Given the description of an element on the screen output the (x, y) to click on. 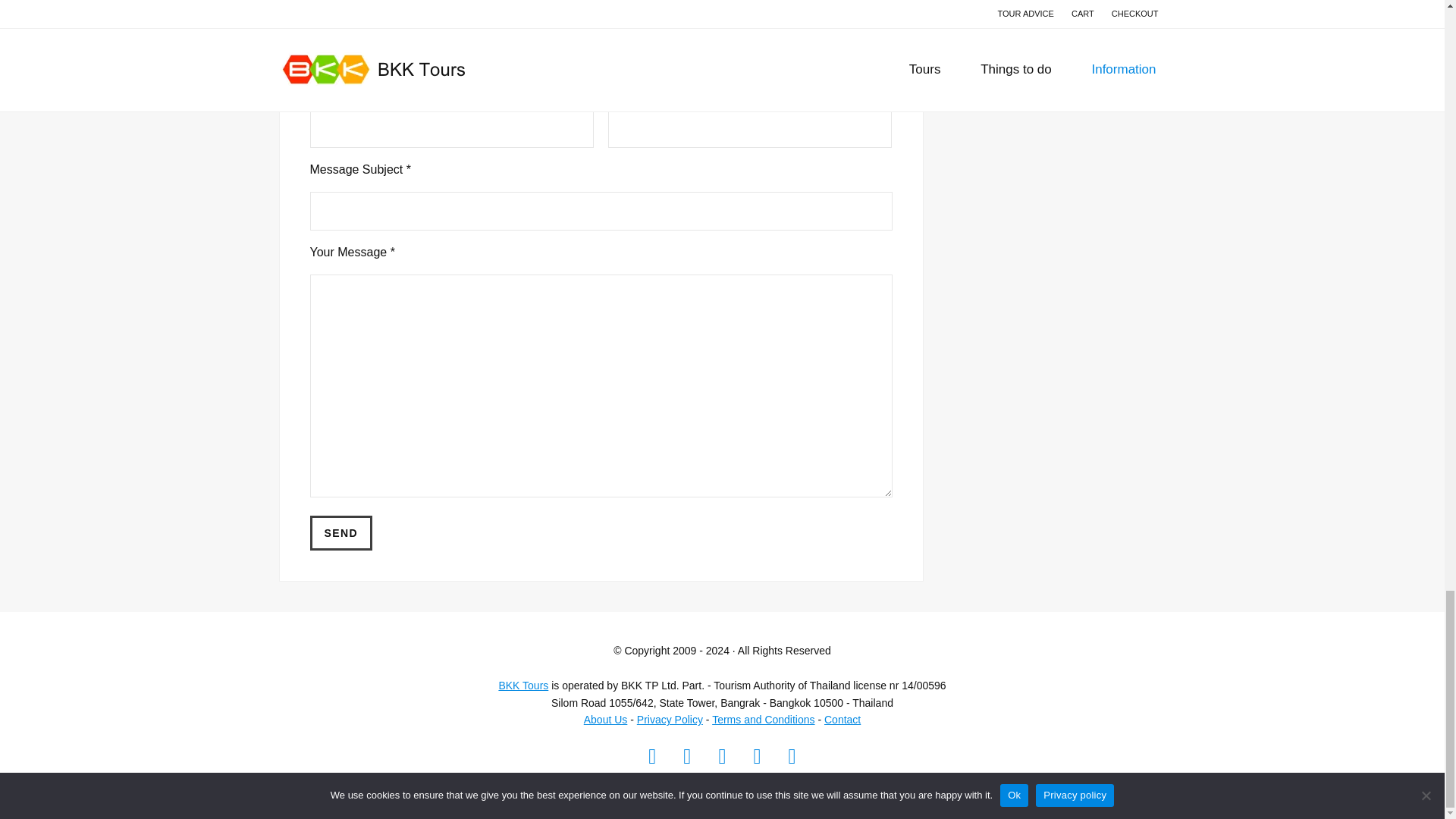
Send (340, 532)
Send (340, 532)
